Given the description of an element on the screen output the (x, y) to click on. 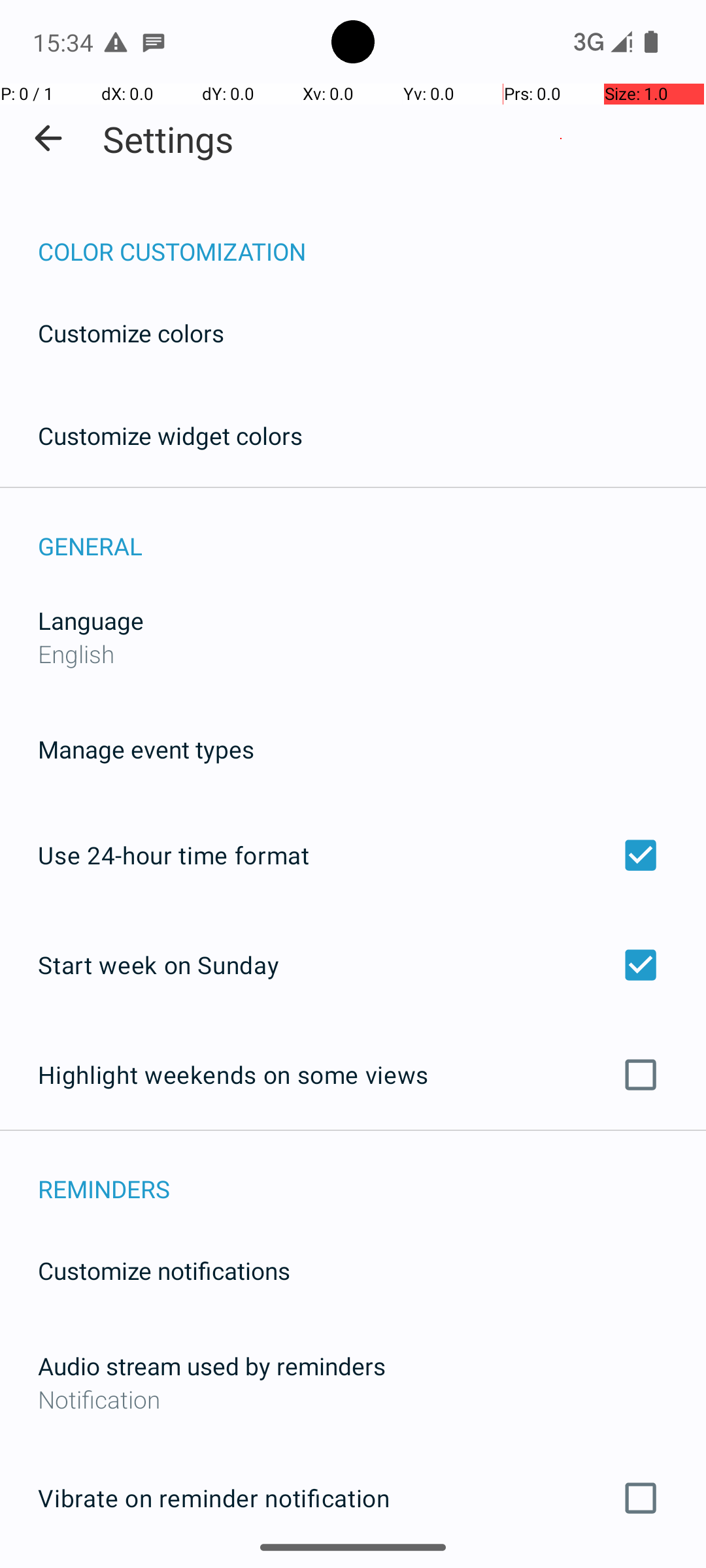
COLOR CUSTOMIZATION Element type: android.widget.TextView (371, 237)
GENERAL Element type: android.widget.TextView (371, 532)
REMINDERS Element type: android.widget.TextView (371, 1174)
Customize colors Element type: android.widget.TextView (130, 332)
Customize widget colors Element type: android.widget.TextView (170, 435)
English Element type: android.widget.TextView (75, 653)
Manage event types Element type: android.widget.TextView (145, 748)
Use 24-hour time format Element type: android.widget.CheckBox (352, 855)
Start week on Sunday Element type: android.widget.CheckBox (352, 964)
Highlight weekends on some views Element type: android.widget.CheckBox (352, 1074)
Customize notifications Element type: android.widget.TextView (163, 1270)
Audio stream used by reminders Element type: android.widget.TextView (211, 1365)
Notification Element type: android.widget.TextView (352, 1398)
Vibrate on reminder notification Element type: android.widget.CheckBox (352, 1497)
Loop reminders until dismissed Element type: android.widget.CheckBox (352, 1567)
